Given the description of an element on the screen output the (x, y) to click on. 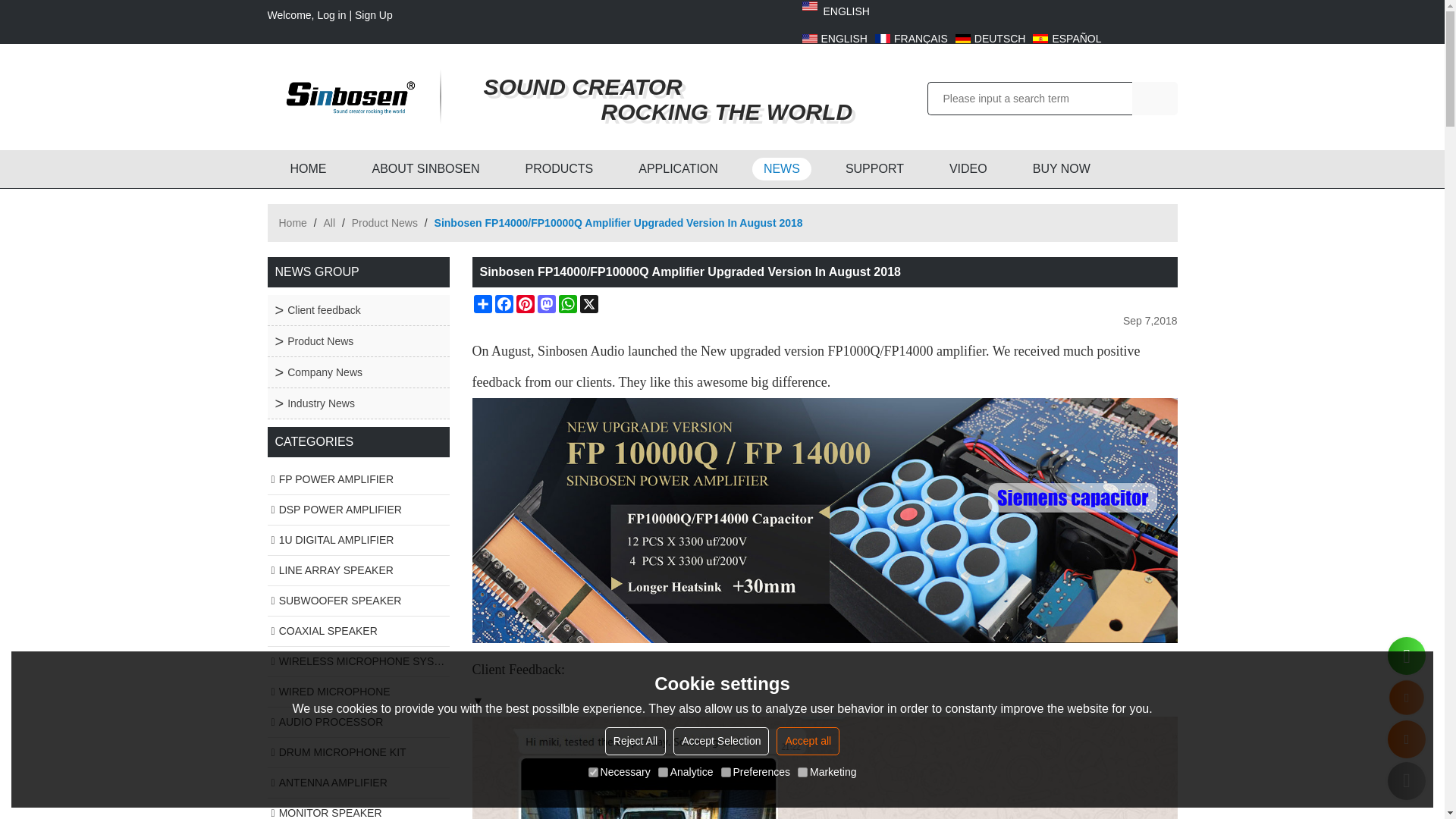
ABOUT SINBOSEN (426, 168)
 DEUTSCH (990, 38)
ABOUT SINBOSEN (426, 168)
Deutsch (990, 38)
search (1153, 98)
Sign Up (374, 15)
Log in (331, 15)
HOME (308, 168)
English (834, 38)
on (725, 772)
GUANGZHOU XINBAOSHENG AUDIO EQUIPMENT COMPANY LIMITED (346, 96)
HOME (308, 168)
on (802, 772)
on (593, 772)
on (663, 772)
